Given the description of an element on the screen output the (x, y) to click on. 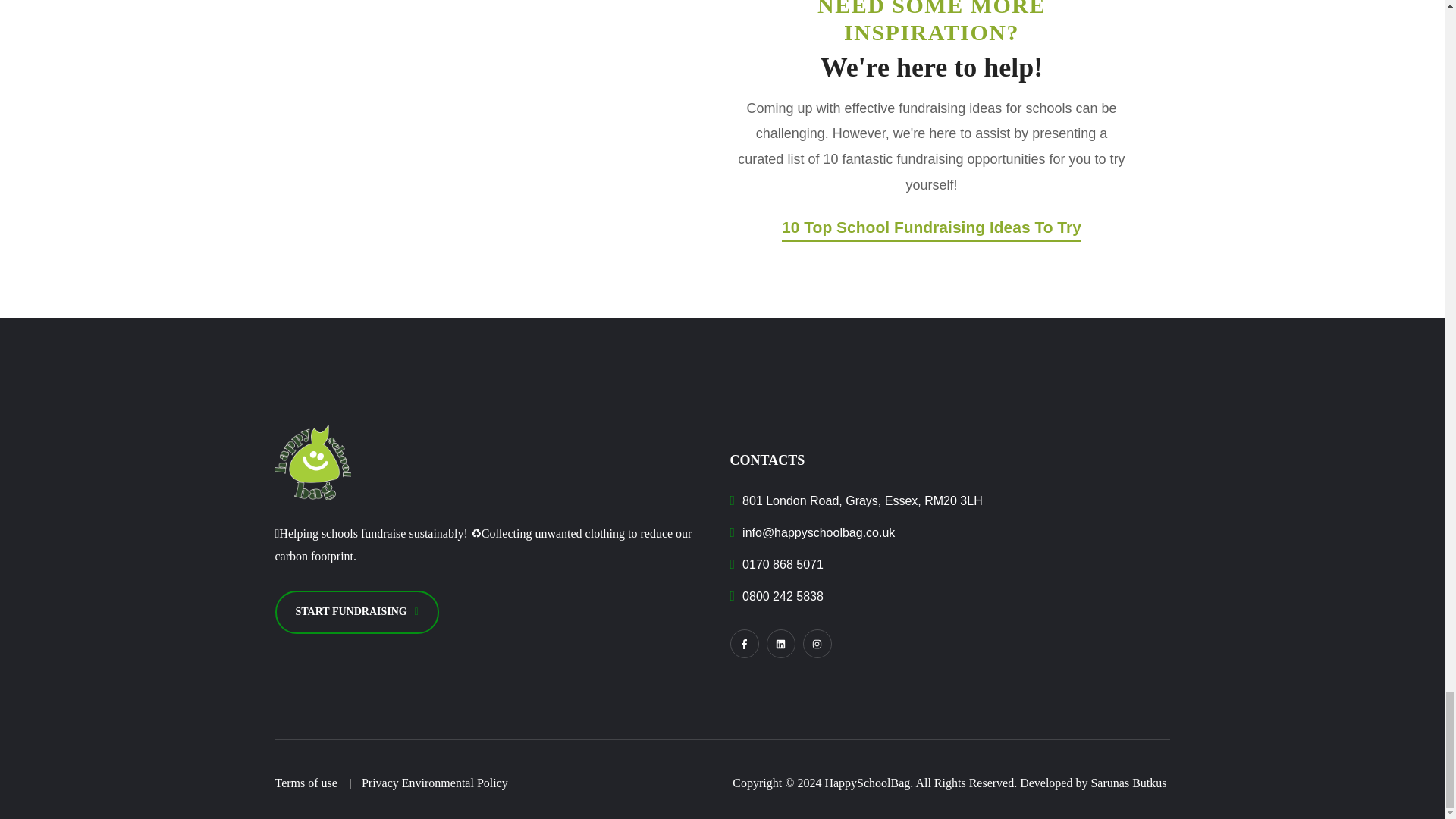
Facebook (743, 643)
LinkedIn (779, 643)
Instagram (816, 643)
